Given the description of an element on the screen output the (x, y) to click on. 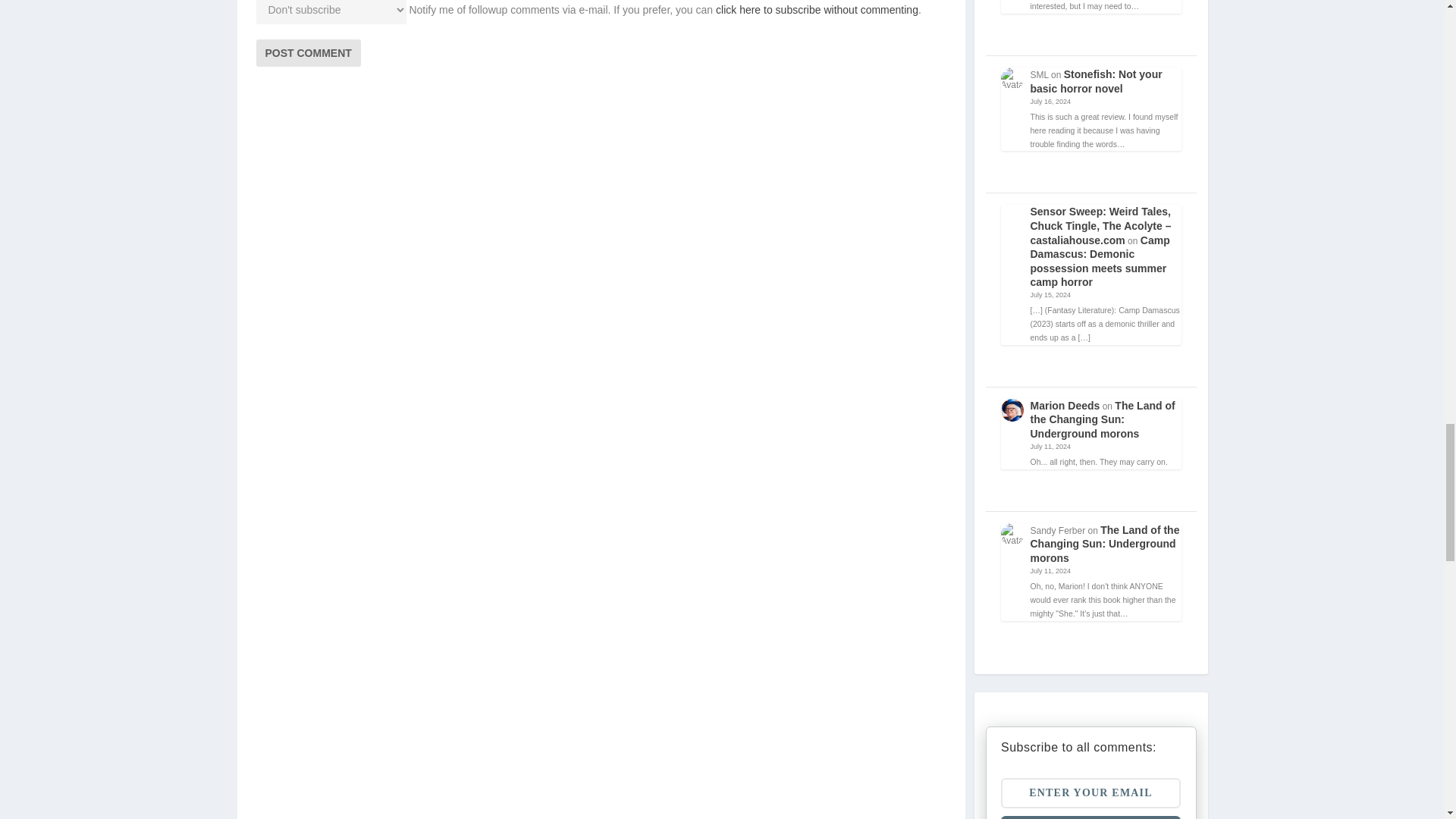
Post Comment (308, 52)
